Given the description of an element on the screen output the (x, y) to click on. 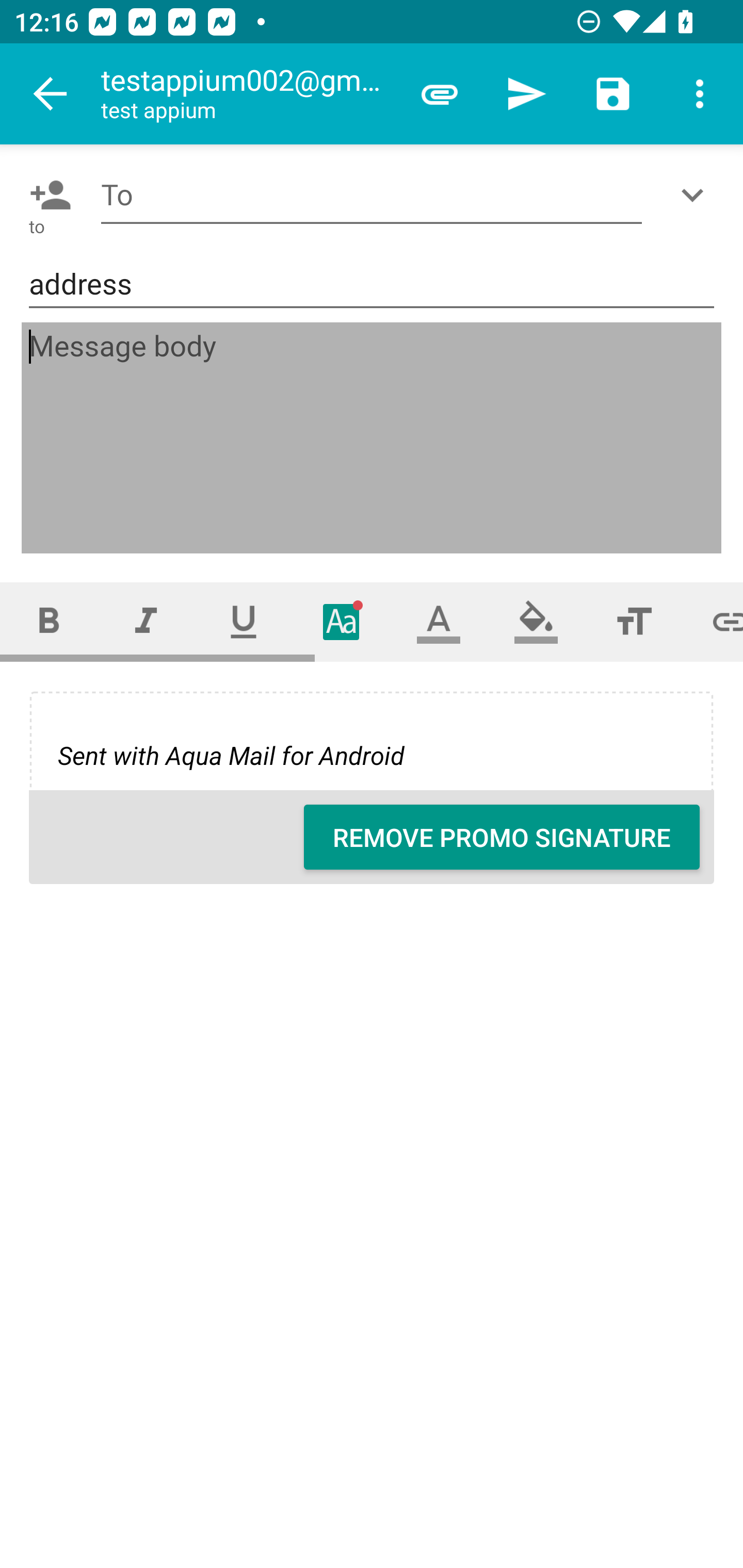
Navigate up (50, 93)
testappium002@gmail.com test appium (248, 93)
Attach (439, 93)
Send (525, 93)
Save (612, 93)
More options (699, 93)
Pick contact: To (46, 195)
Show/Add CC/BCC (696, 195)
To (371, 195)
address (371, 284)
Message body (372, 438)
Bold (48, 621)
Italic (145, 621)
Underline (243, 621)
Typeface (font) (341, 621)
Text color (438, 621)
Fill color (536, 621)
Font size (633, 621)
REMOVE PROMO SIGNATURE (501, 837)
